Given the description of an element on the screen output the (x, y) to click on. 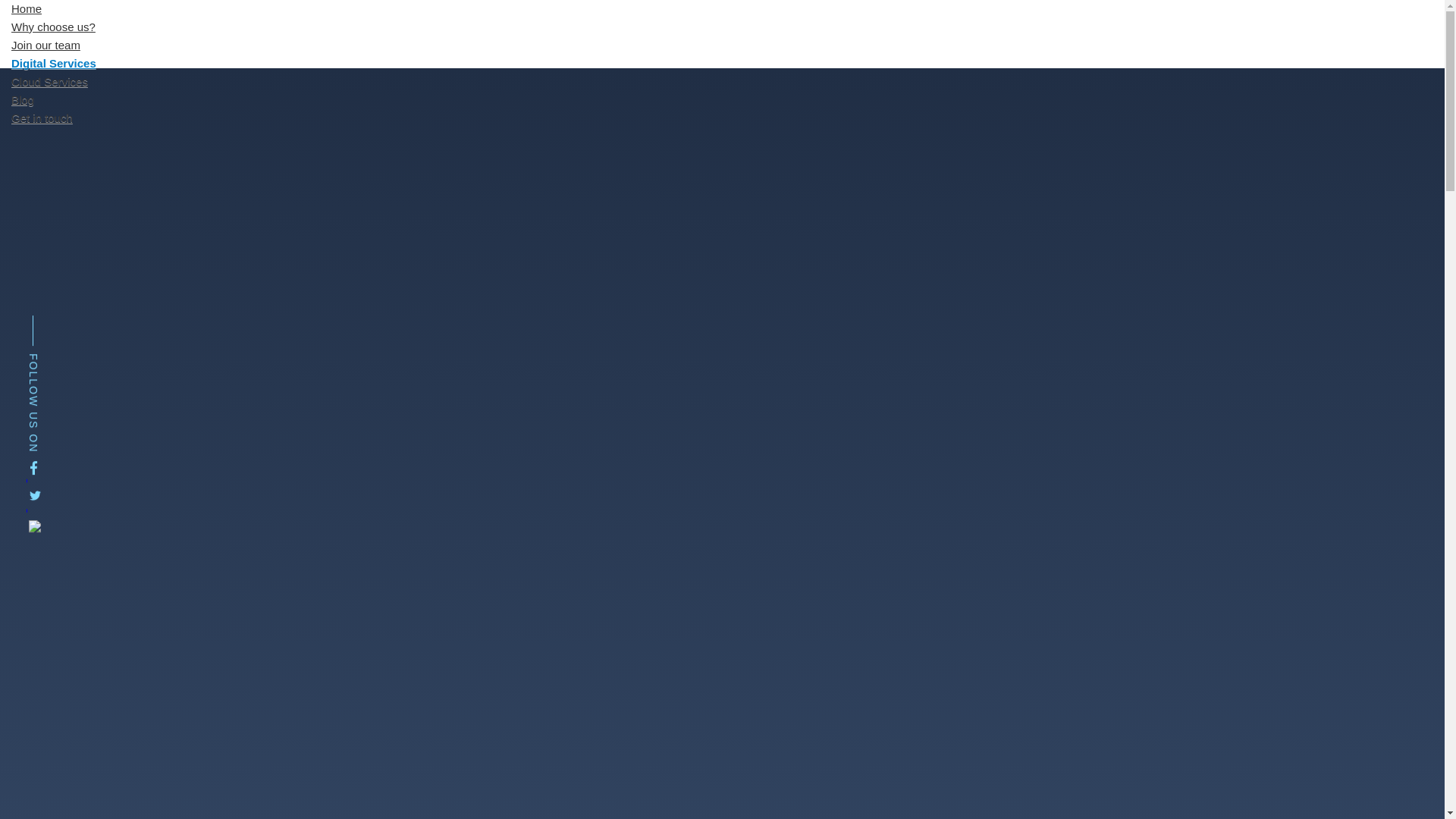
Why choose us? (53, 26)
Get in touch (42, 117)
Digital Services (53, 62)
Join our team (45, 44)
Blog (22, 99)
Home (26, 11)
Cloud Services (49, 81)
